Given the description of an element on the screen output the (x, y) to click on. 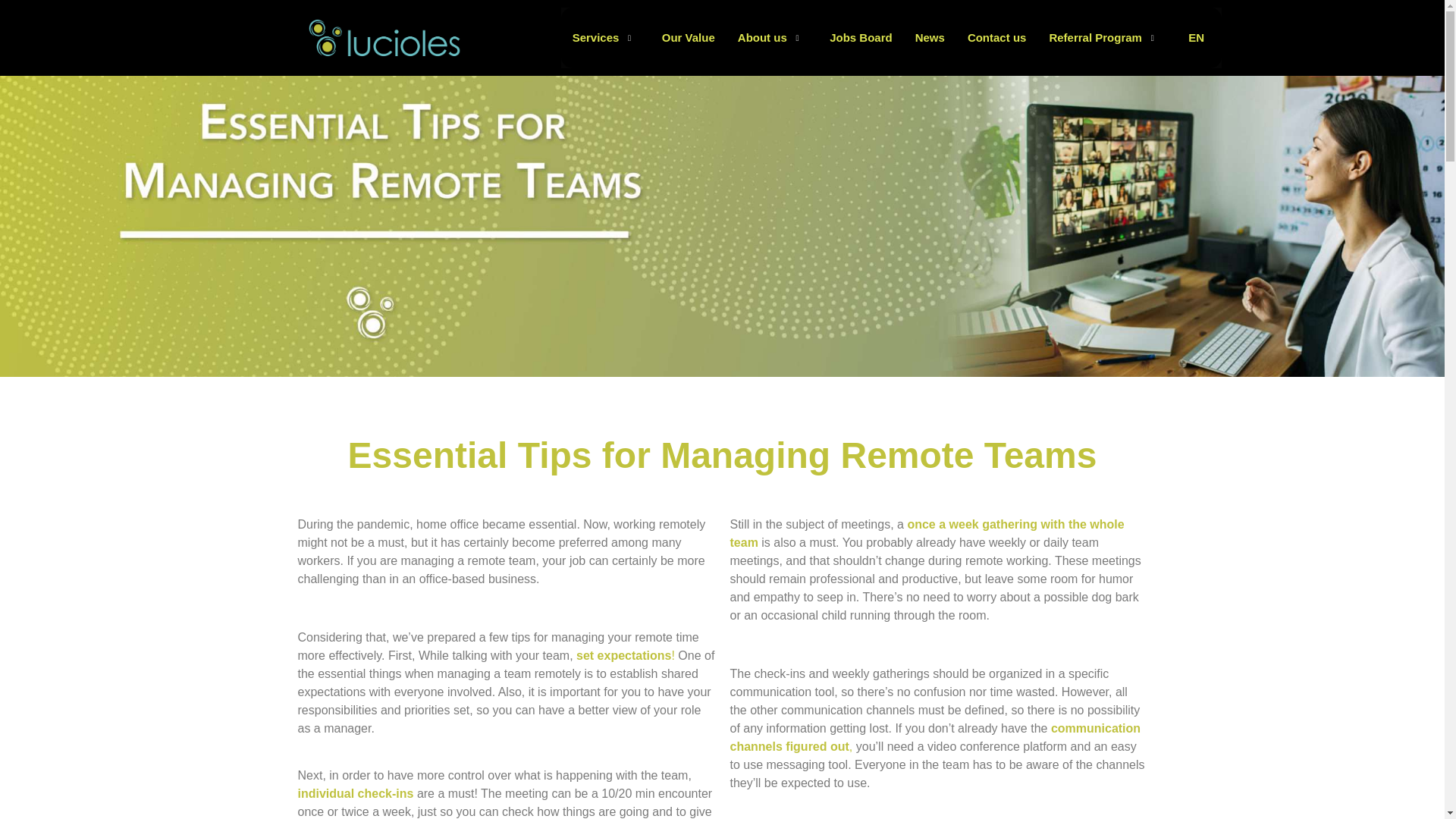
Referral Program (1104, 37)
Jobs Board (861, 37)
About us (772, 37)
Contact us (997, 37)
Services (605, 37)
Our Value (688, 37)
